Given the description of an element on the screen output the (x, y) to click on. 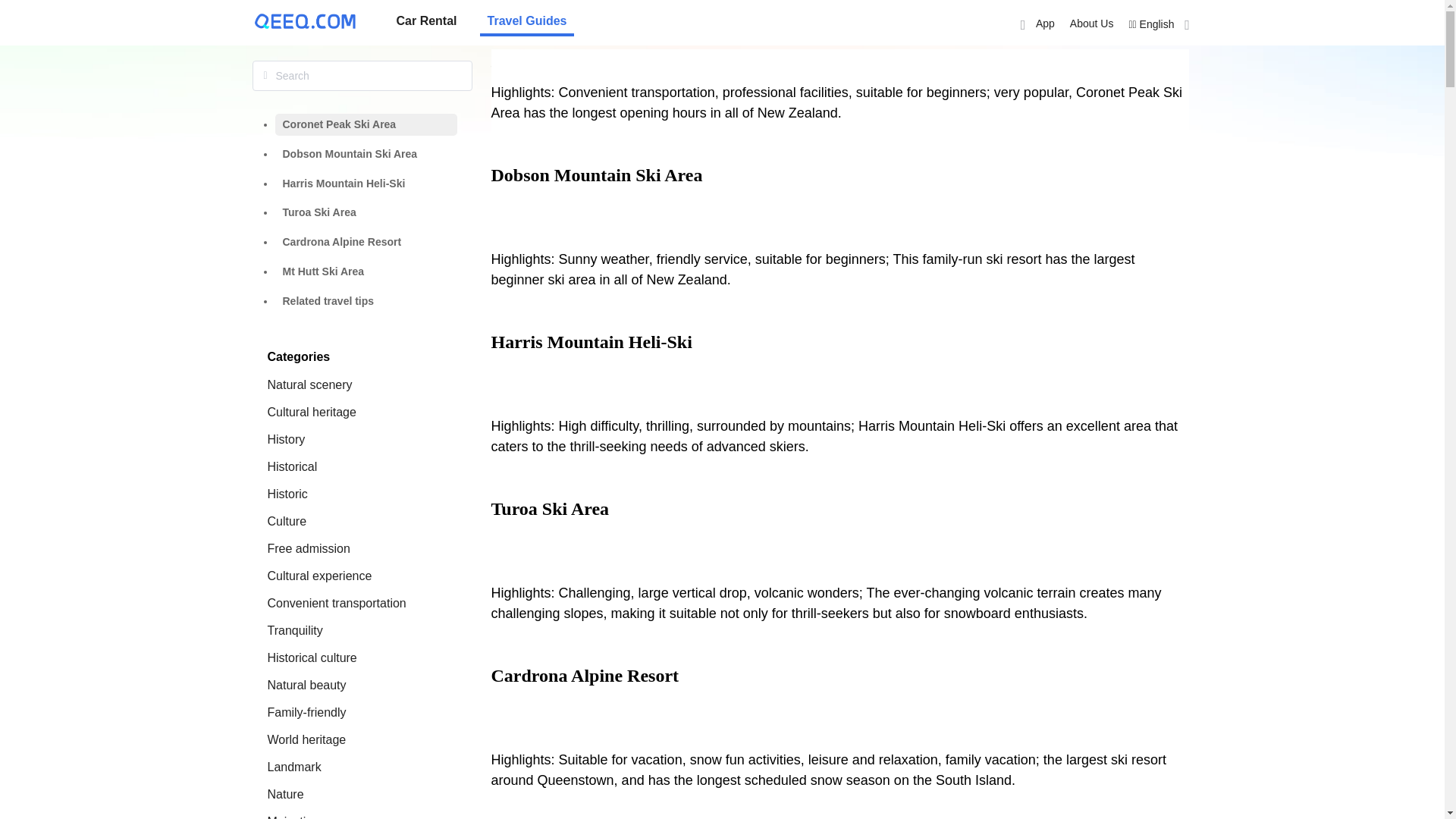
Family-friendly travel guides (306, 712)
Landmark travel guides (293, 766)
Car Rental (426, 21)
Majestic travel guides (288, 816)
About Us (1091, 23)
Travel Guides (527, 21)
Free admission (307, 548)
Travel Guides (527, 21)
Landmark (293, 766)
Culture travel guides (285, 521)
